Given the description of an element on the screen output the (x, y) to click on. 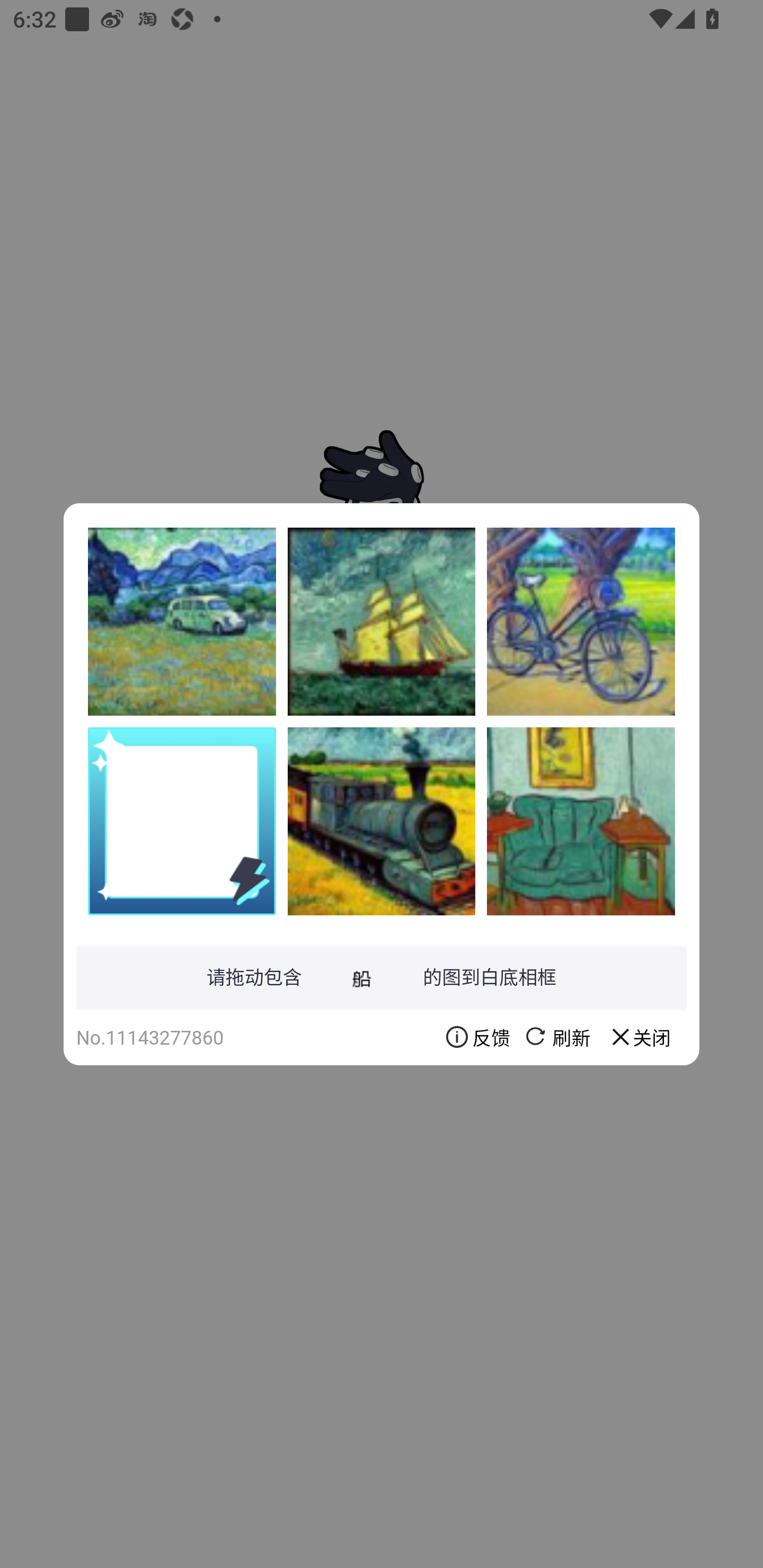
0UqTNXSZqSvx86IpcuZE14Au (181, 621)
sTVOiXKxapm0h (381, 621)
97BCPf7qfV+R5AWeGPAx5tEzVVbHTN4Dfbs (580, 621)
qXRhoXjLedq5OtLTpe (381, 820)
